Given the description of an element on the screen output the (x, y) to click on. 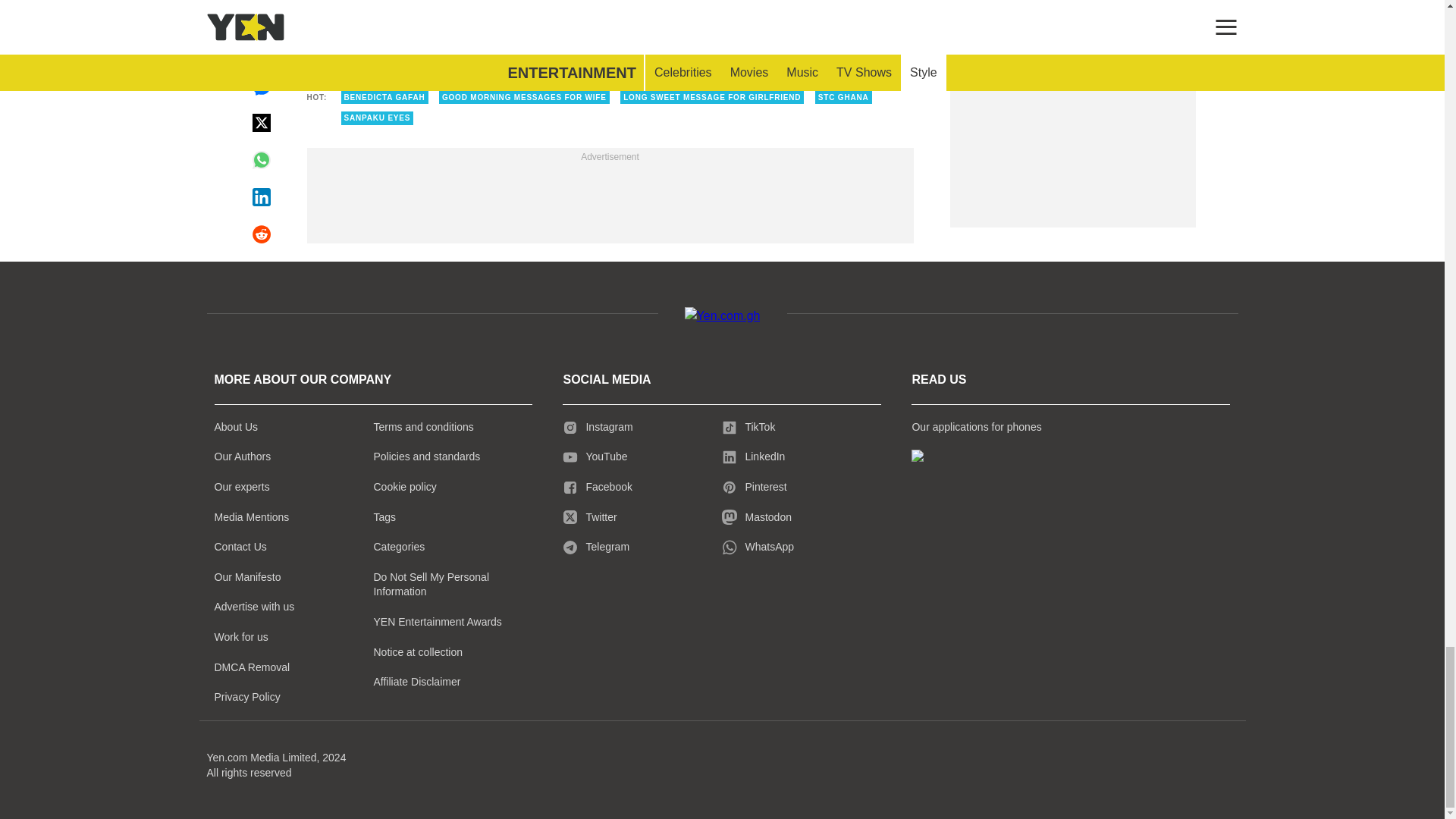
Author page (765, 20)
Author page (453, 20)
